Given the description of an element on the screen output the (x, y) to click on. 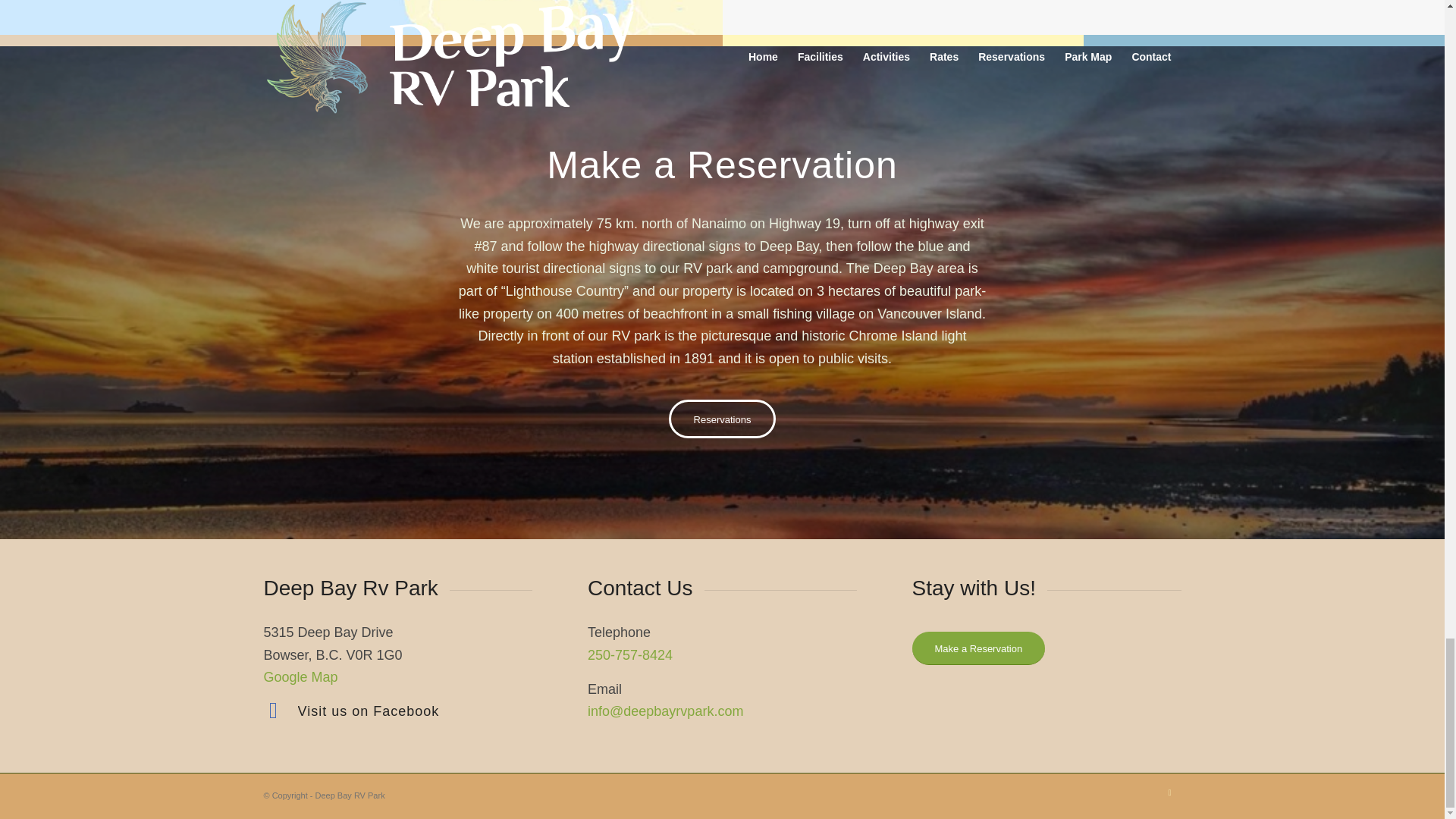
map3 (361, 17)
Reservations (722, 418)
Make a Reservation (978, 648)
Visit us on Facebook (368, 711)
Visit us on Facebook (272, 710)
250-757-8424 (630, 654)
Google Map (300, 676)
